Given the description of an element on the screen output the (x, y) to click on. 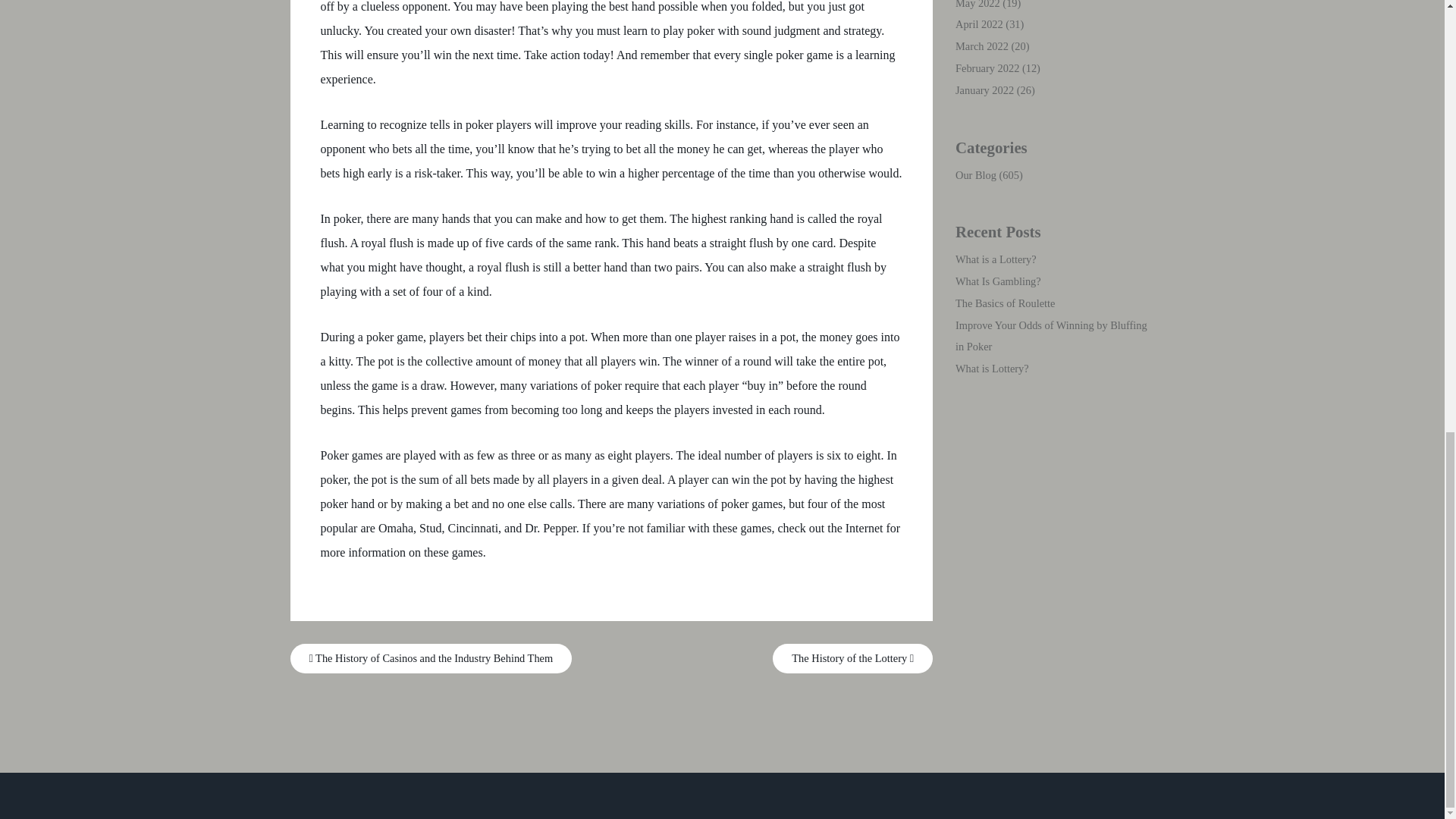
The History of the Lottery (853, 658)
The History of Casinos and the Industry Behind Them (430, 658)
May 2022 (977, 4)
